Given the description of an element on the screen output the (x, y) to click on. 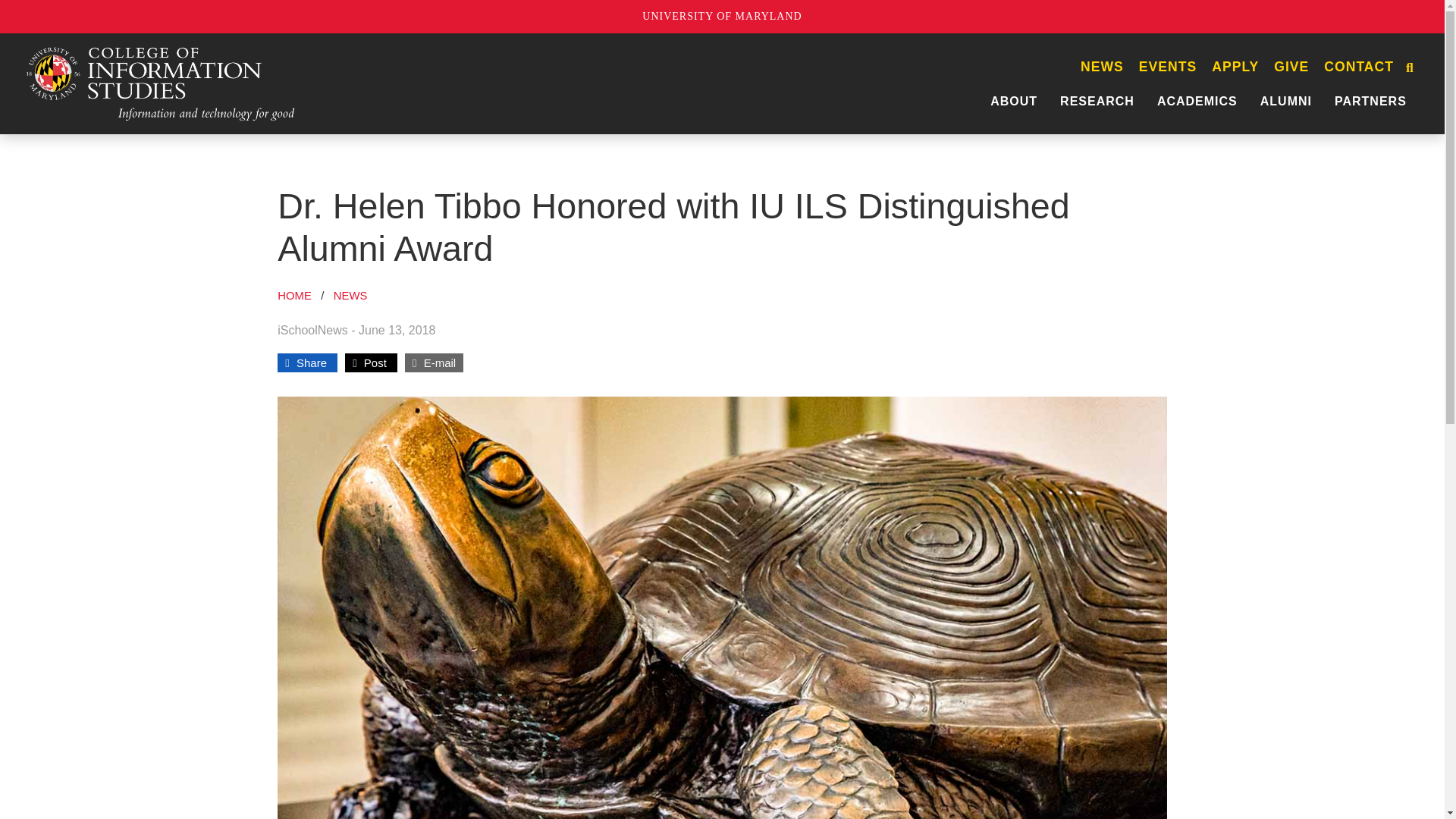
NEWS (1102, 62)
UNIVERSITY OF MARYLAND (722, 16)
CONTACT (1358, 62)
ACADEMICS (1197, 96)
ABOUT (1013, 96)
APPLY (1235, 62)
Share this post via e-mail (433, 353)
Share this post on Facebook (307, 353)
GIVE (1291, 62)
Share this post on X (371, 353)
